Given the description of an element on the screen output the (x, y) to click on. 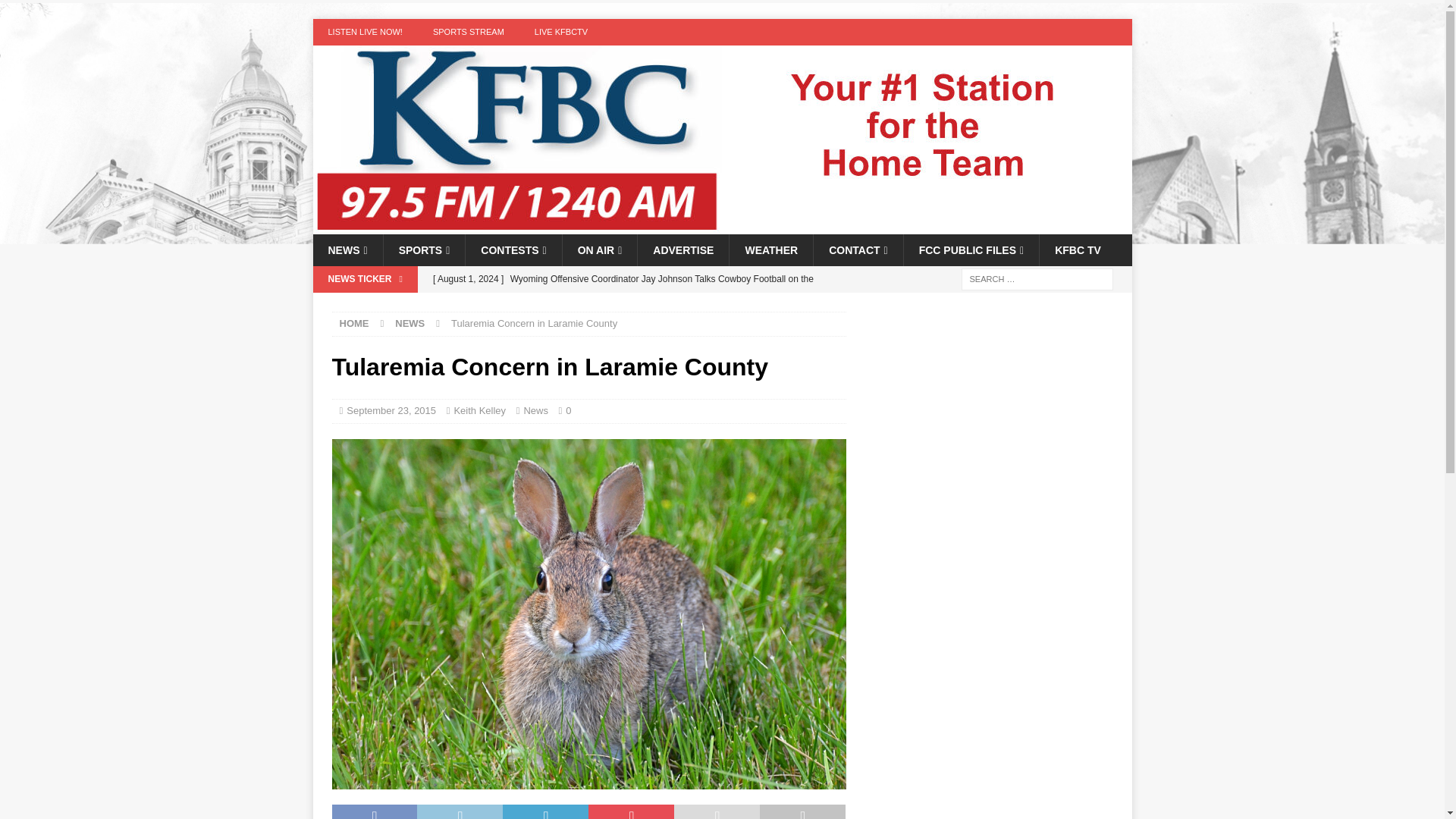
SPORTS STREAM (468, 31)
LISTEN LIVE NOW! (364, 31)
LIVE KFBCTV (560, 31)
HOME (354, 323)
CONTESTS (512, 250)
September 23, 2015 (390, 410)
Keith Kelley (478, 410)
NEWS (347, 250)
ADVERTISE (683, 250)
Search (56, 11)
KFBC TV (1077, 250)
SPORTS (423, 250)
FCC PUBLIC FILES (970, 250)
CONTACT (857, 250)
NEWS (409, 323)
